Given the description of an element on the screen output the (x, y) to click on. 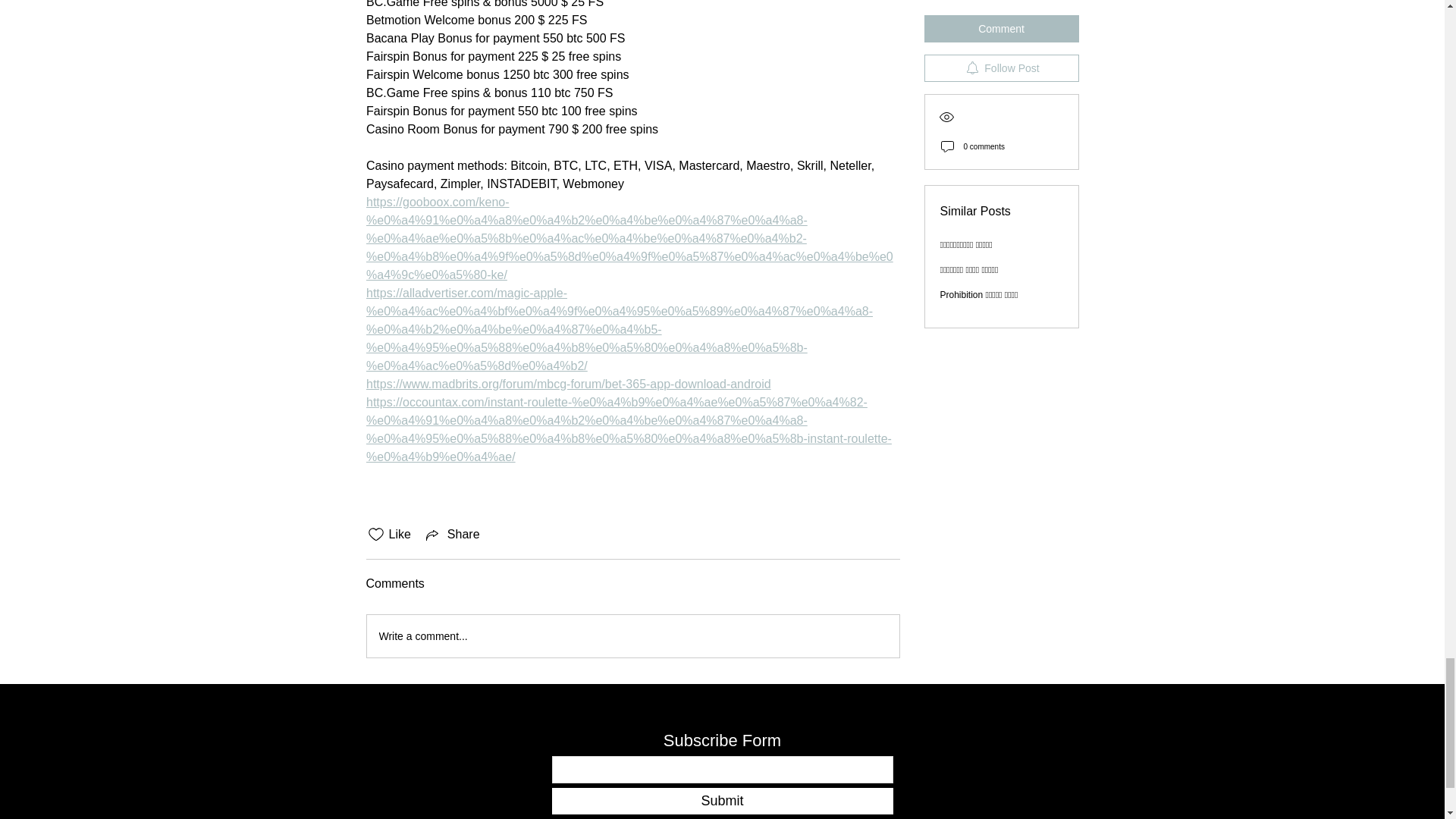
Write a comment... (632, 636)
Submit (722, 800)
Share (451, 534)
